Given the description of an element on the screen output the (x, y) to click on. 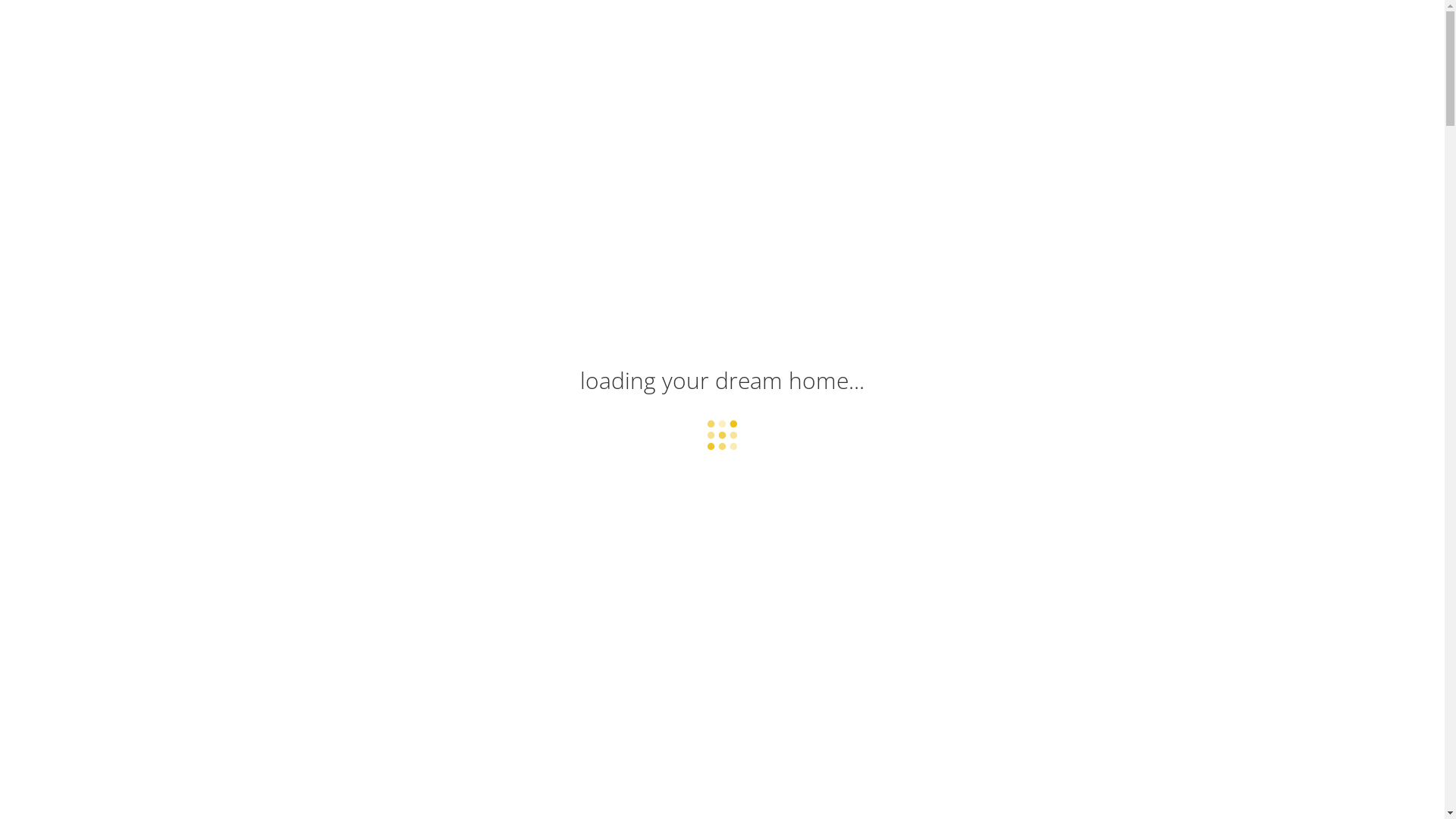
10 Adak Court Element type: text (338, 34)
MAIN HOUSE AND COTTAGE VIRTUAL TOURS Element type: text (753, 37)
SCHEDULE & CONTACT Element type: text (1070, 37)
FEATURES Element type: text (903, 37)
Enable Audio Element type: text (691, 123)
GALLERY Element type: text (607, 37)
10 ADAK COURT Element type: text (722, 462)
LOCATION Element type: text (972, 37)
